Given the description of an element on the screen output the (x, y) to click on. 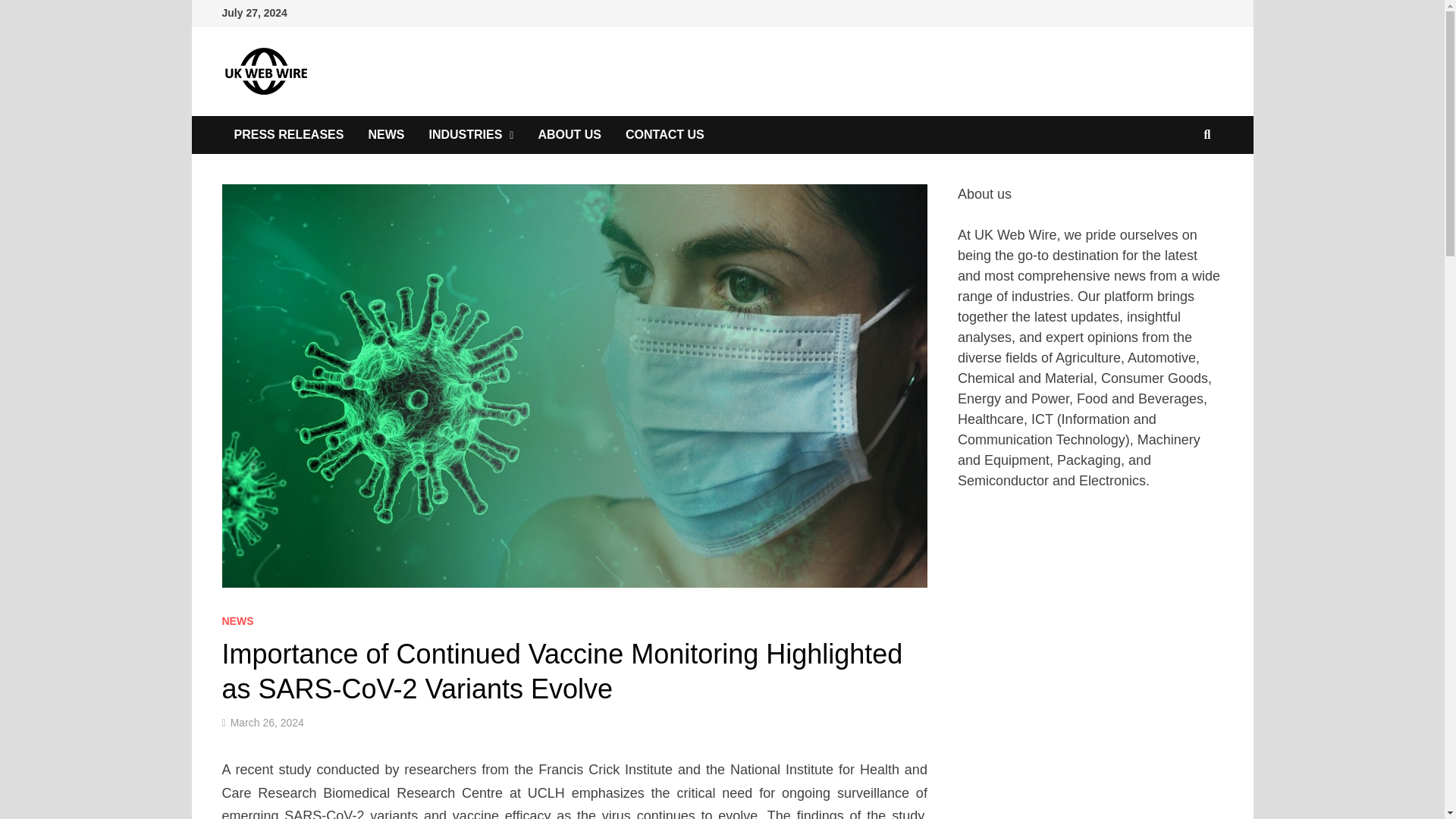
PRESS RELEASES (288, 134)
ABOUT US (568, 134)
NEWS (237, 621)
CONTACT US (664, 134)
NEWS (385, 134)
INDUSTRIES (470, 134)
